Given the description of an element on the screen output the (x, y) to click on. 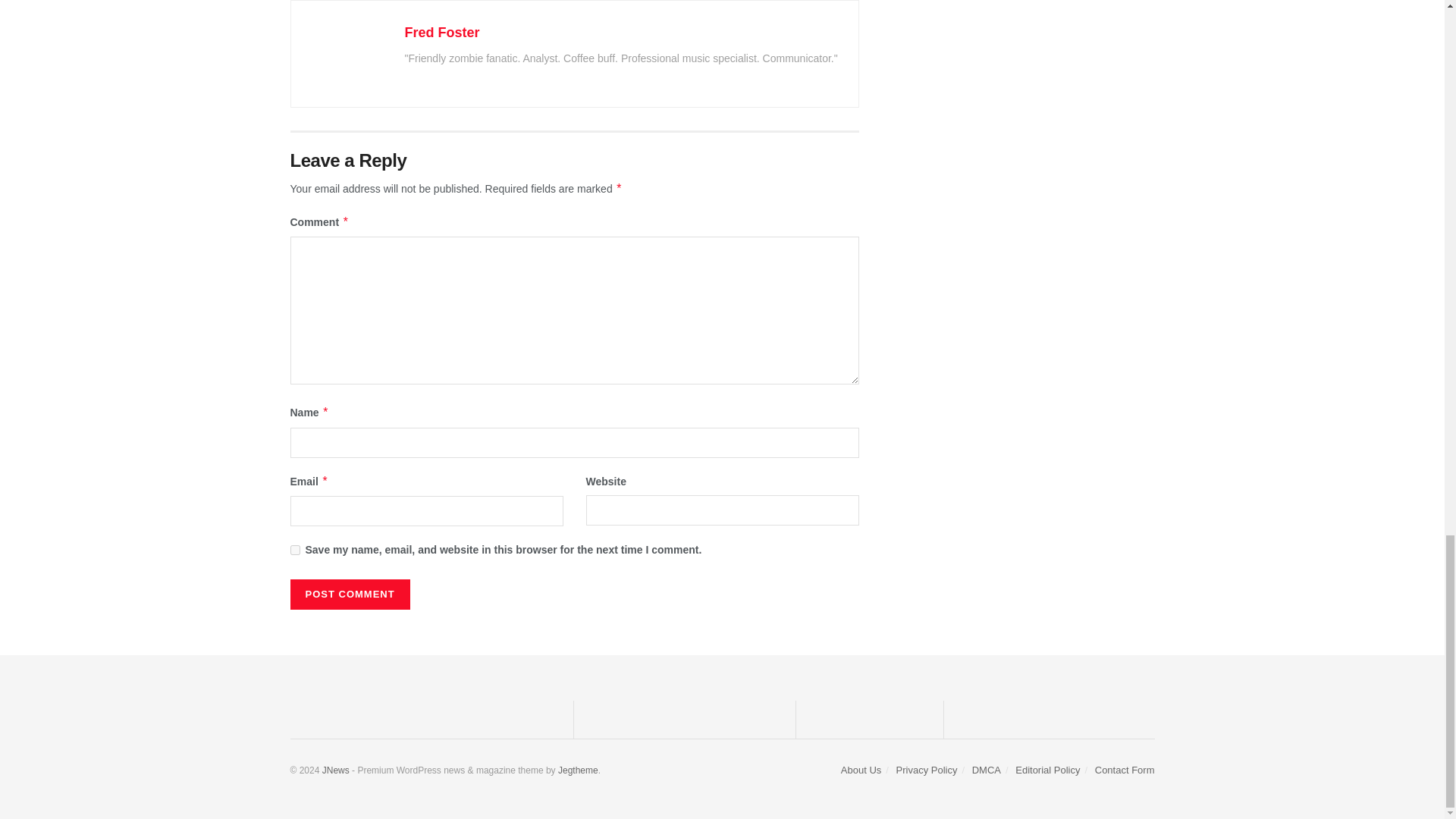
Post Comment (349, 594)
Jegtheme (577, 769)
yes (294, 550)
